Given the description of an element on the screen output the (x, y) to click on. 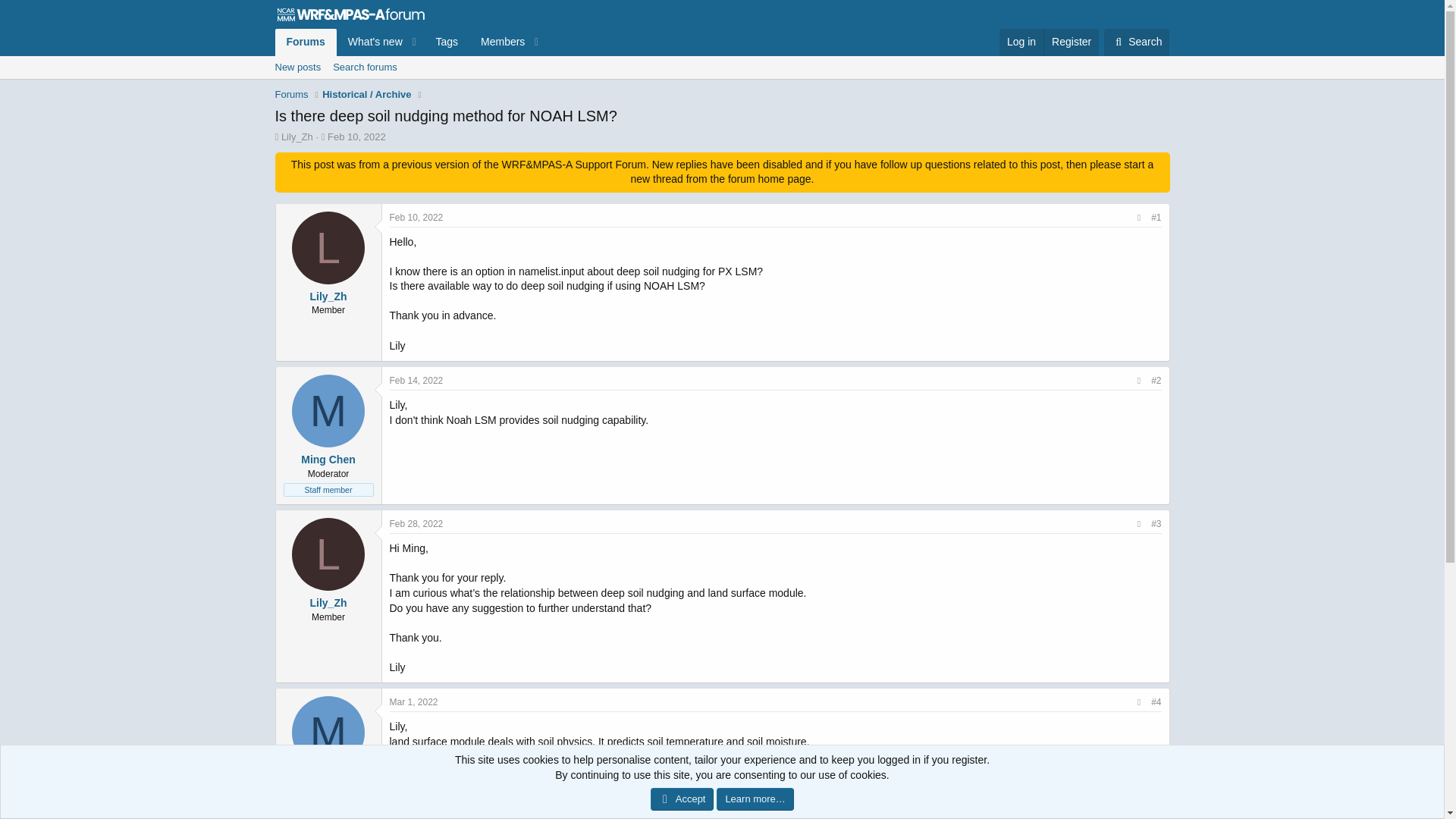
Feb 28, 2022 at 1:40 PM (417, 523)
Mar 1, 2022 at 9:08 AM (414, 701)
Feb 10, 2022 (356, 136)
Members (496, 42)
Forums (305, 42)
New posts (296, 67)
Feb 10, 2022 (417, 217)
Tags (445, 42)
Search forums (364, 67)
